Given the description of an element on the screen output the (x, y) to click on. 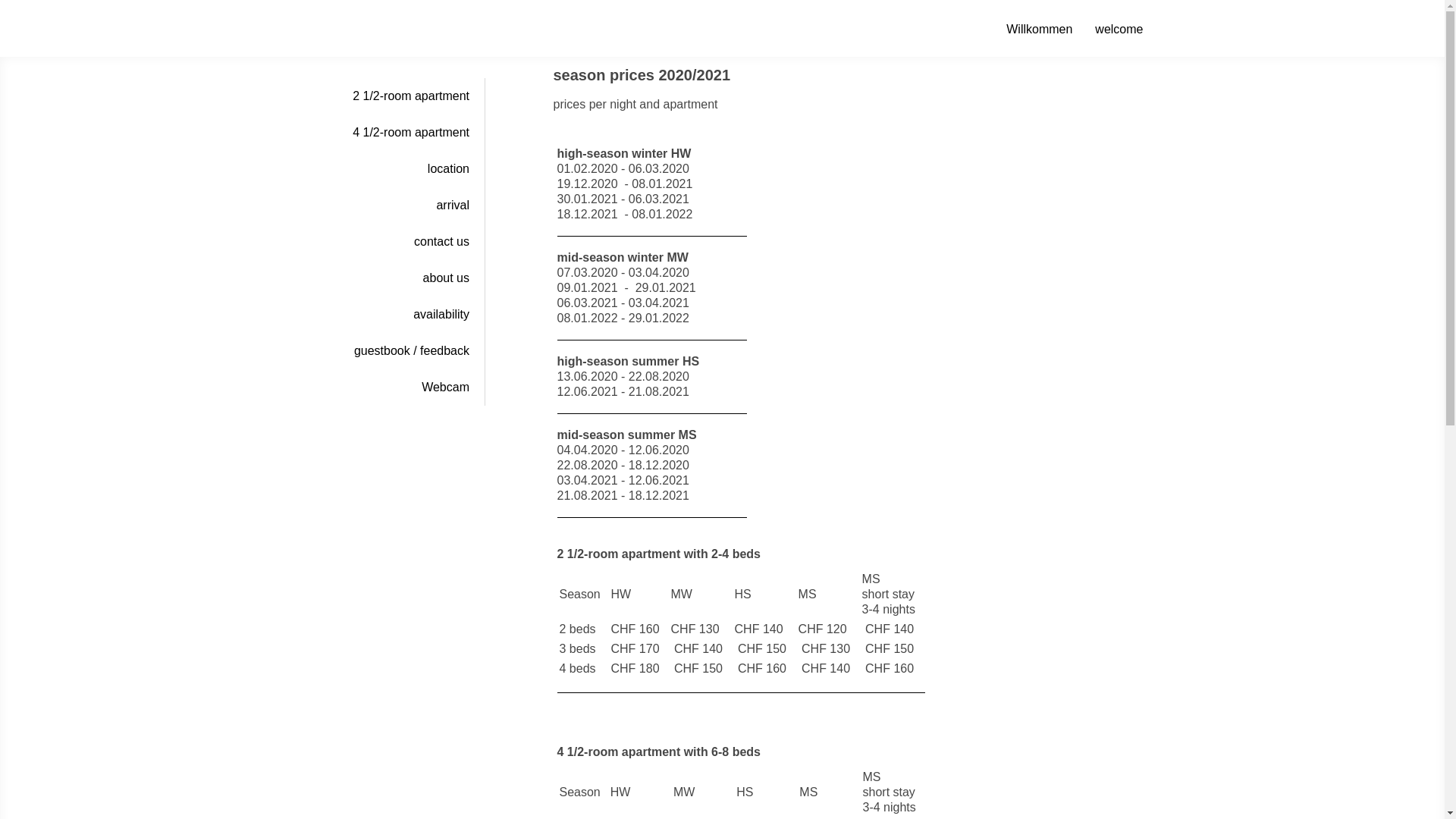
guestbook / feedback Element type: text (402, 350)
availability Element type: text (402, 314)
Willkommen Element type: text (1038, 30)
location Element type: text (402, 168)
arrival Element type: text (402, 205)
welcome Element type: text (1118, 30)
contact us Element type: text (402, 241)
4 1/2-room apartment Element type: text (402, 132)
Webcam Element type: text (402, 387)
about us Element type: text (402, 278)
2 1/2-room apartment Element type: text (402, 96)
